Given the description of an element on the screen output the (x, y) to click on. 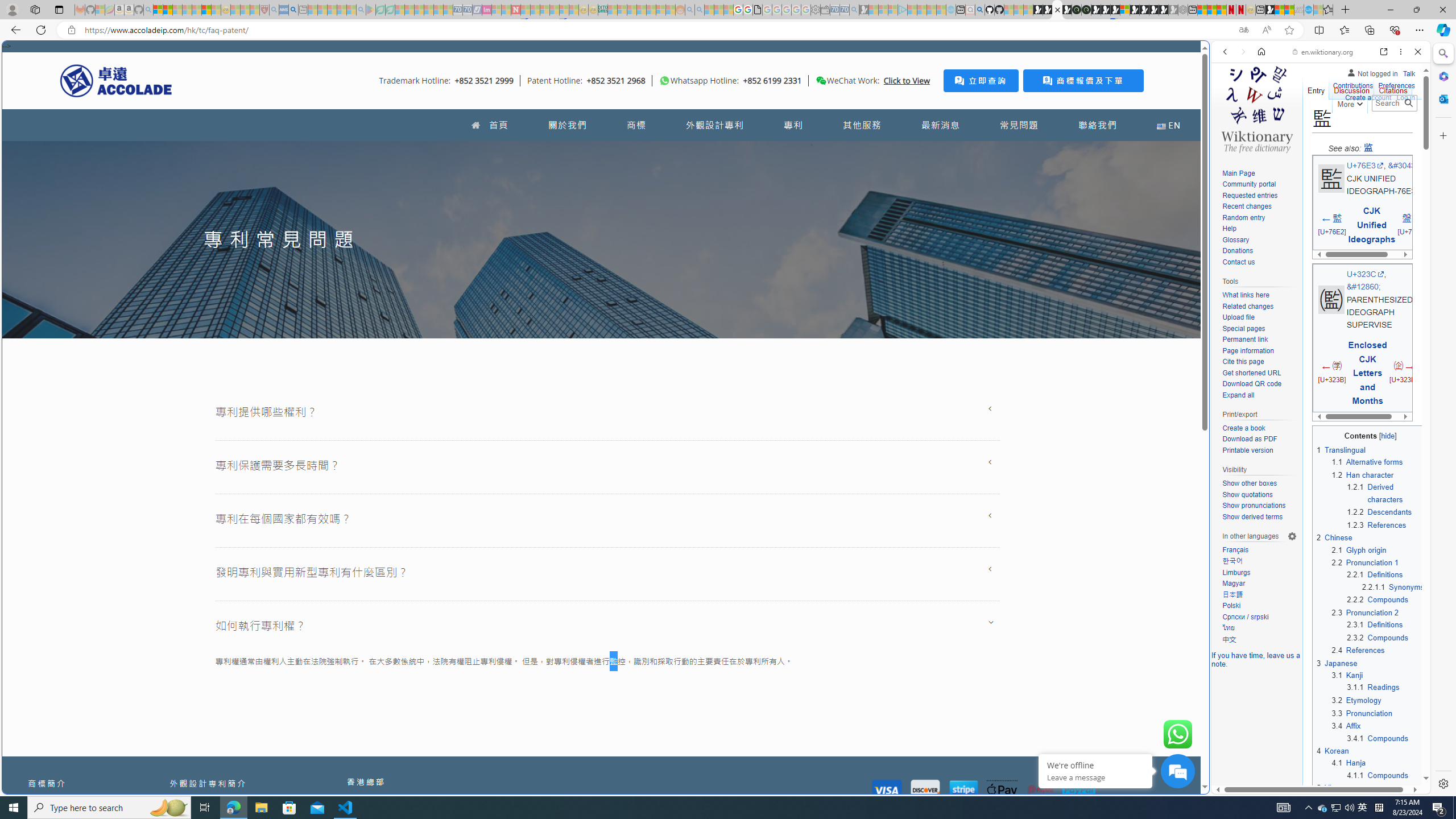
Discussion (1351, 87)
Frequently visited (965, 151)
2.2.2Compounds (1385, 599)
4 Korean (1332, 751)
4.1Hanja4.1.1Compounds (1377, 768)
